Given the description of an element on the screen output the (x, y) to click on. 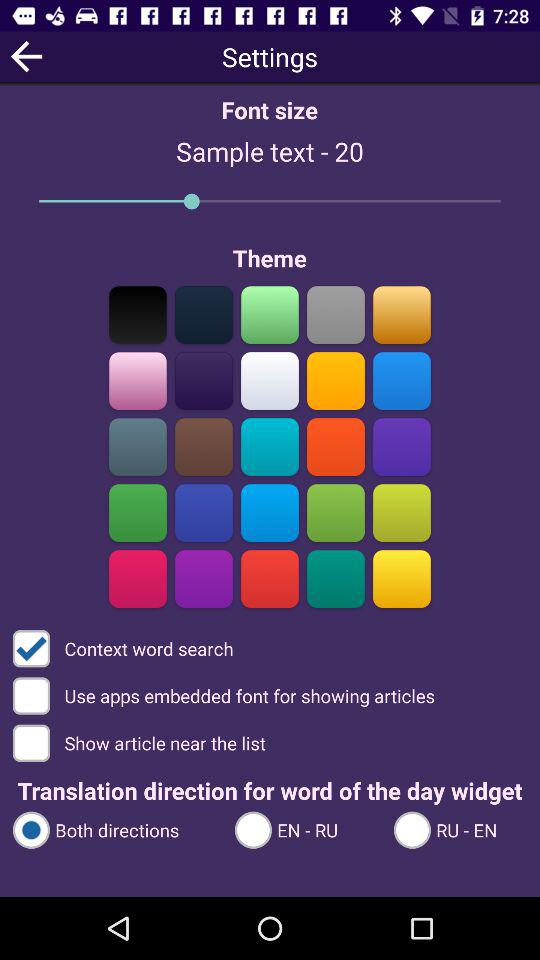
yellow color theme (401, 578)
